Given the description of an element on the screen output the (x, y) to click on. 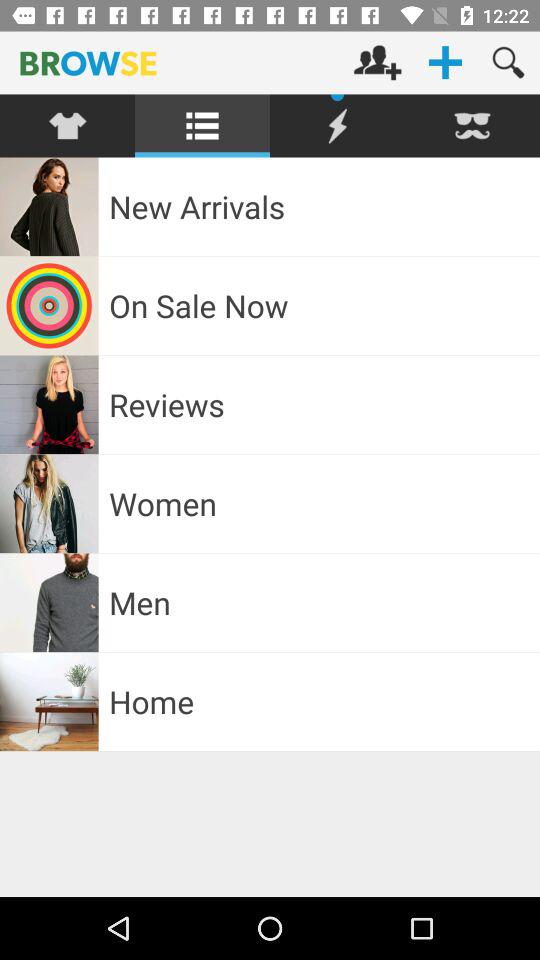
share site (337, 125)
